Given the description of an element on the screen output the (x, y) to click on. 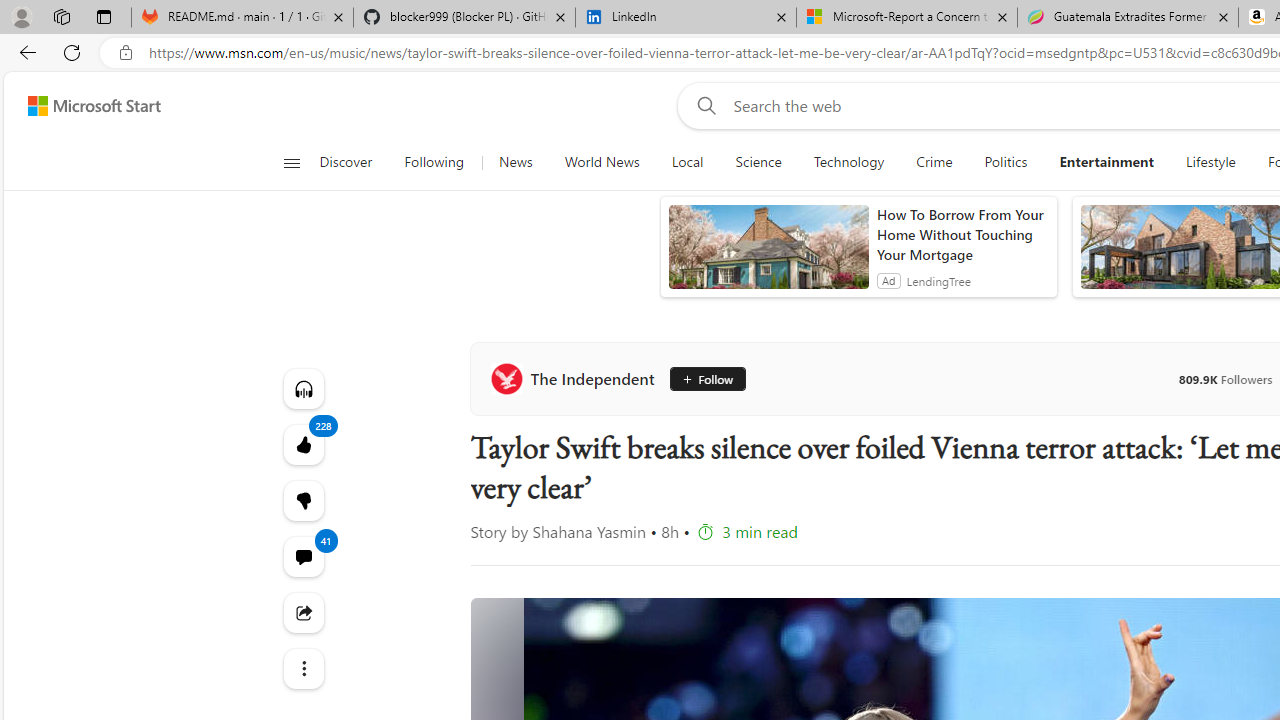
228 (302, 500)
Share this story (302, 612)
